Given the description of an element on the screen output the (x, y) to click on. 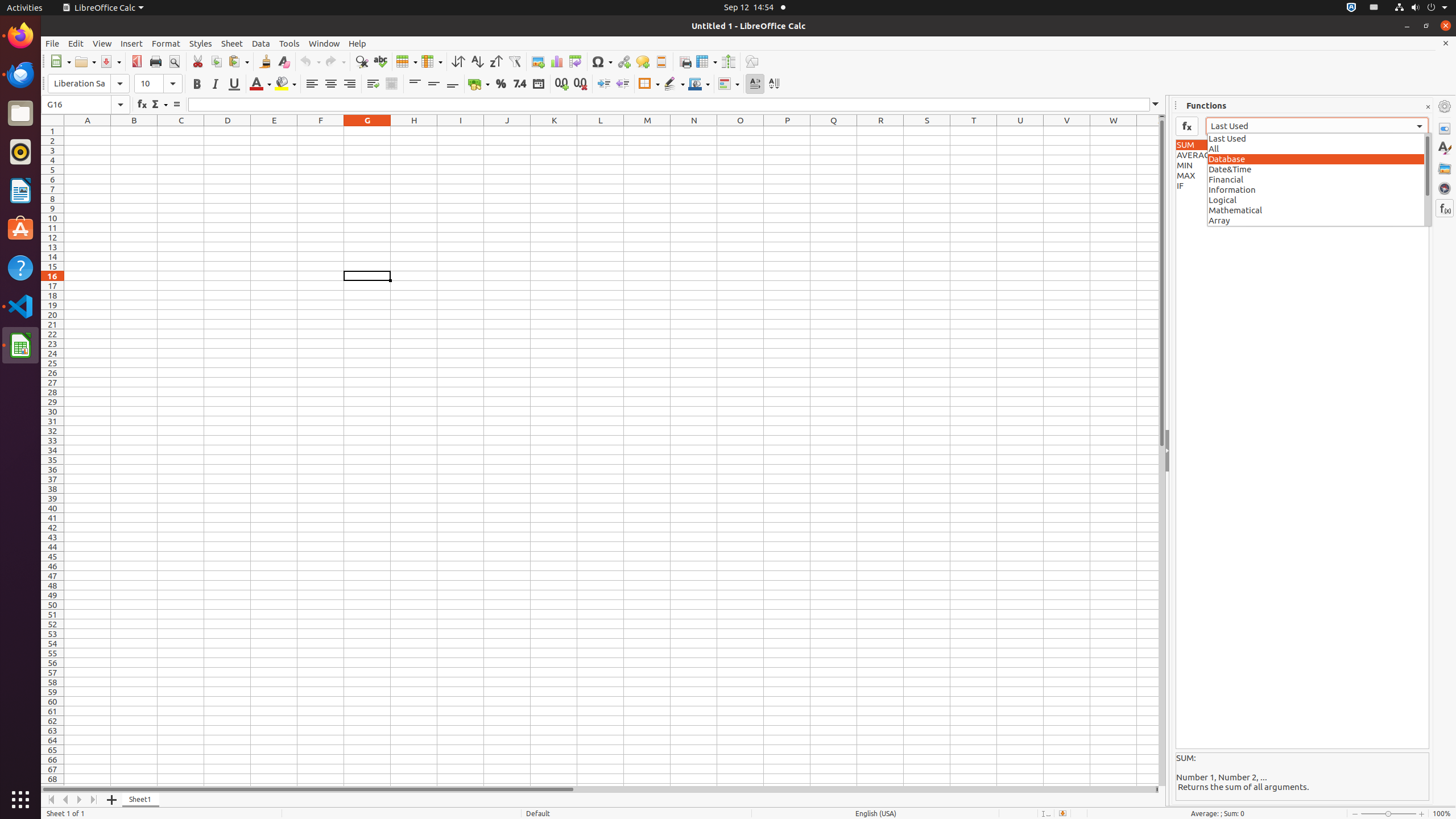
Undo Element type: push-button (309, 61)
Move To End Element type: push-button (94, 799)
Window Element type: menu (324, 43)
Decrease Element type: push-button (622, 83)
Name Box Element type: combo-box (85, 104)
